Given the description of an element on the screen output the (x, y) to click on. 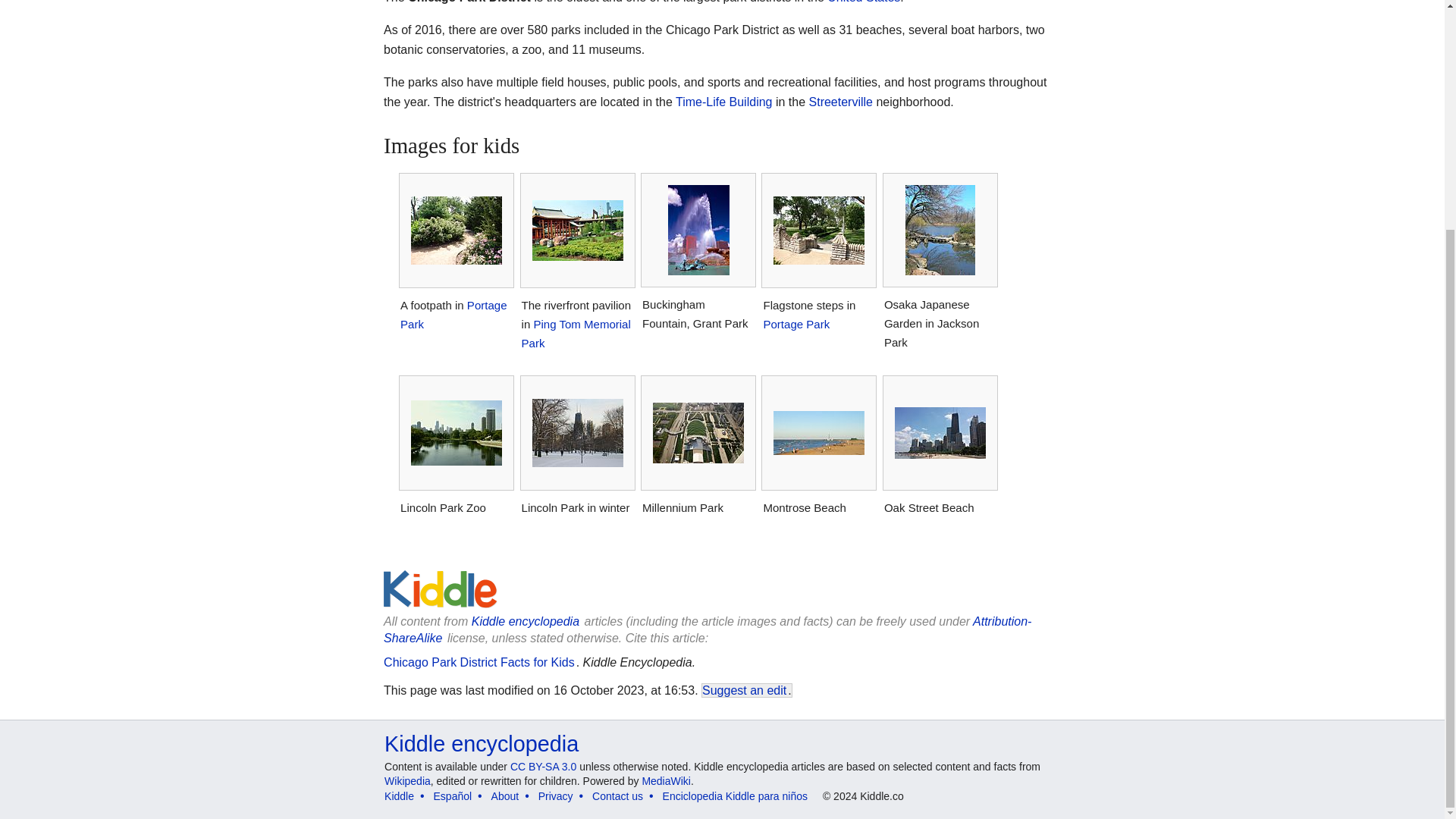
Chicago Park District Facts for Kids (479, 662)
Kiddle (398, 796)
Attribution-ShareAlike (707, 629)
United States (863, 2)
Wikipedia (407, 780)
Portage Park (453, 314)
Ping Tom Memorial Park (575, 333)
Suggest an edit (743, 689)
Portage Park (795, 323)
Time-Life Building (723, 101)
